Given the description of an element on the screen output the (x, y) to click on. 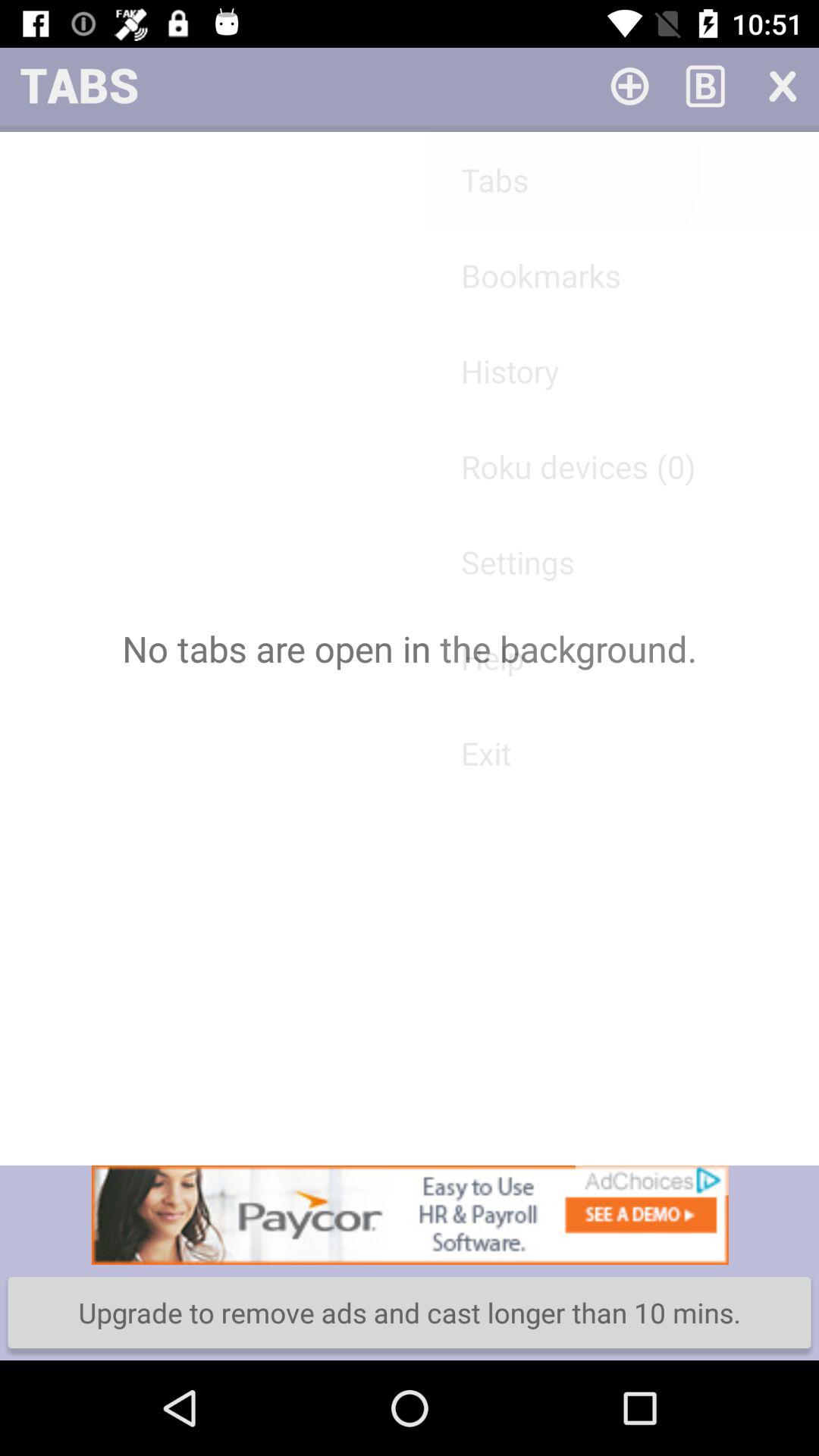
close tab (781, 85)
